Given the description of an element on the screen output the (x, y) to click on. 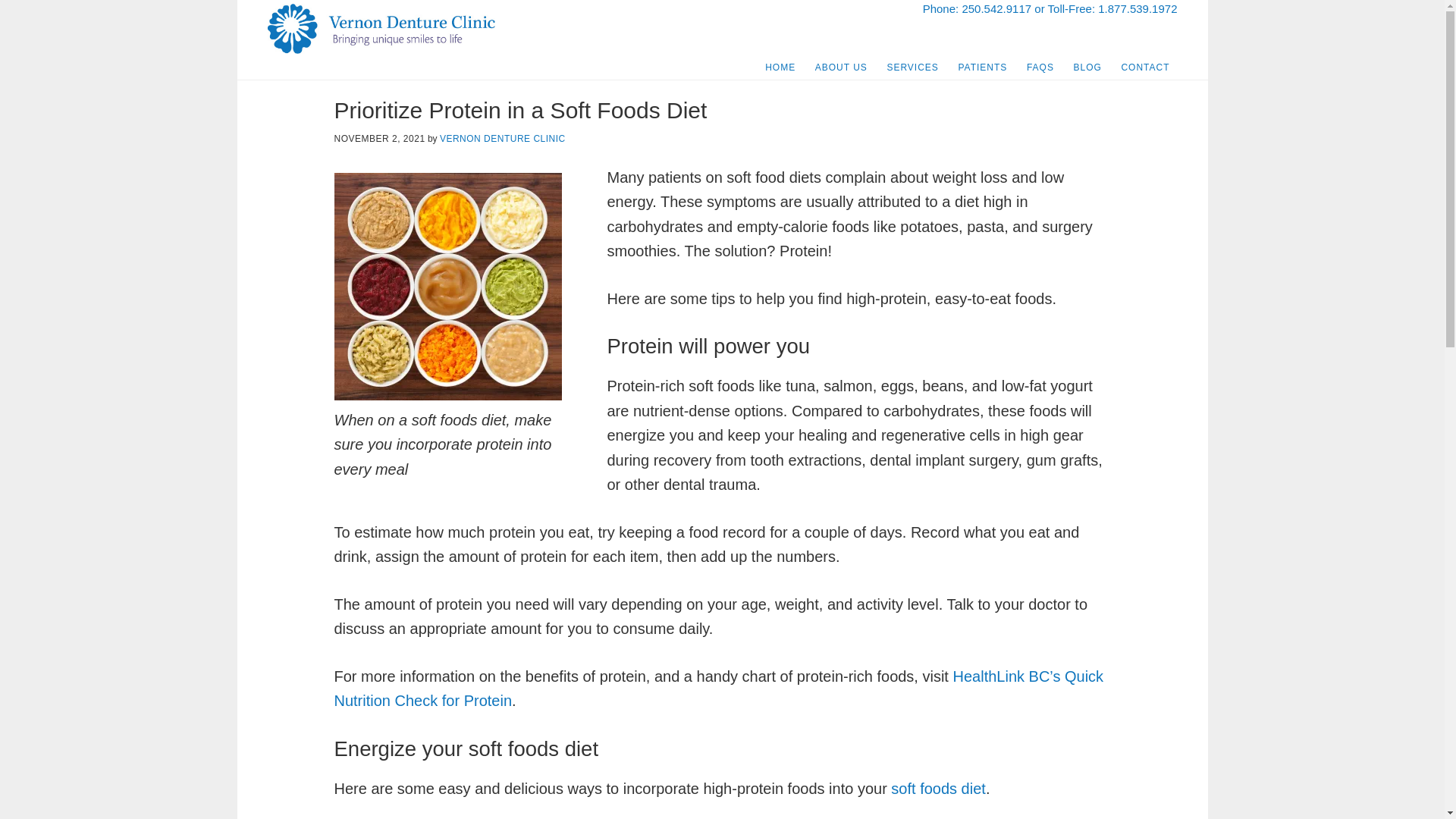
soft foods diet (938, 787)
ABOUT US (841, 67)
HOME (780, 67)
PATIENTS (982, 67)
CONTACT (1144, 67)
VERNON DENTURE CLINIC (502, 138)
FAQS (1040, 67)
BLOG (1086, 67)
SERVICES (911, 67)
